Given the description of an element on the screen output the (x, y) to click on. 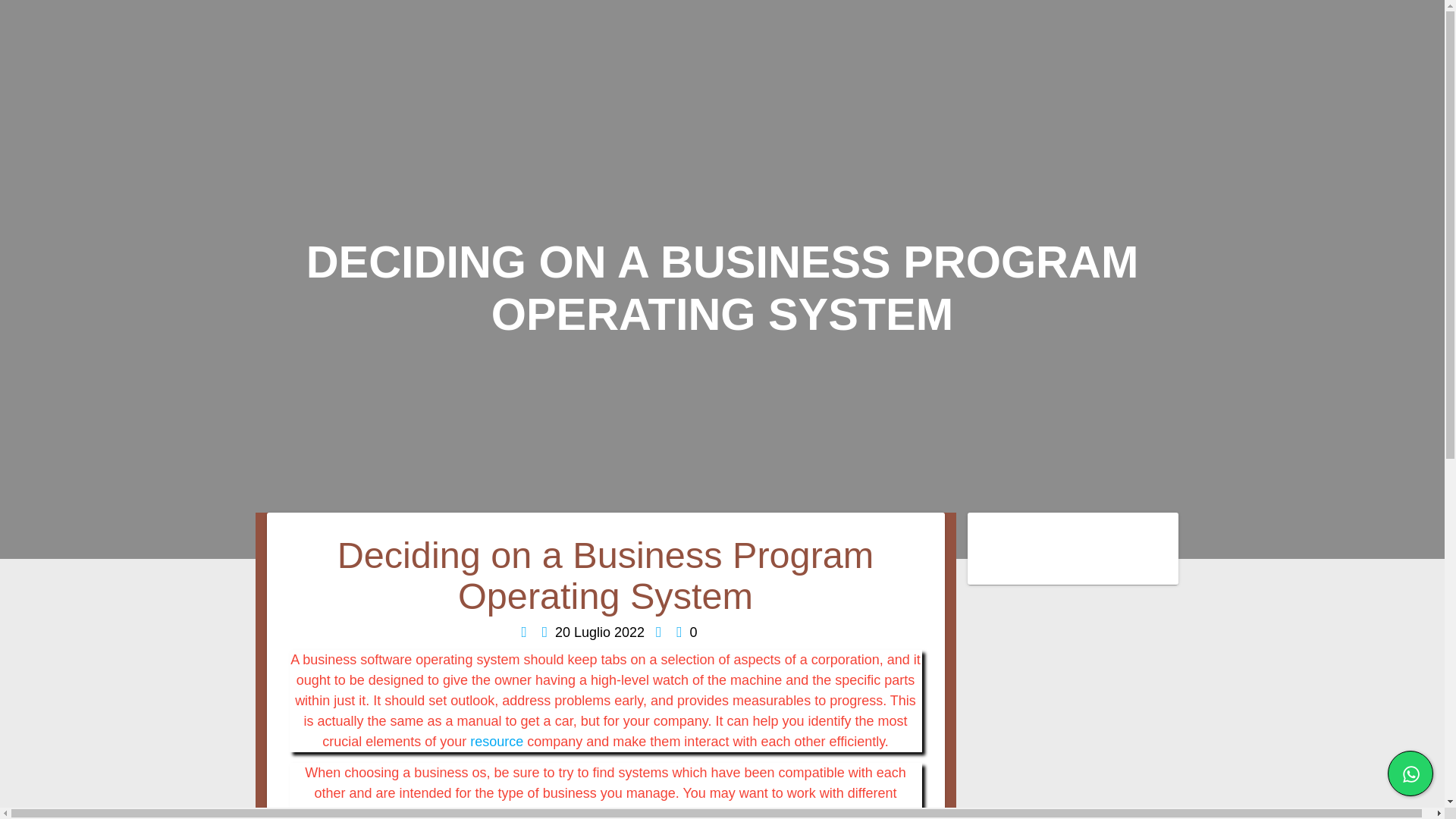
AZIENDA (929, 110)
IL FRANTOIO (1056, 110)
NEGOZIO (1318, 110)
resource (496, 741)
